Given the description of an element on the screen output the (x, y) to click on. 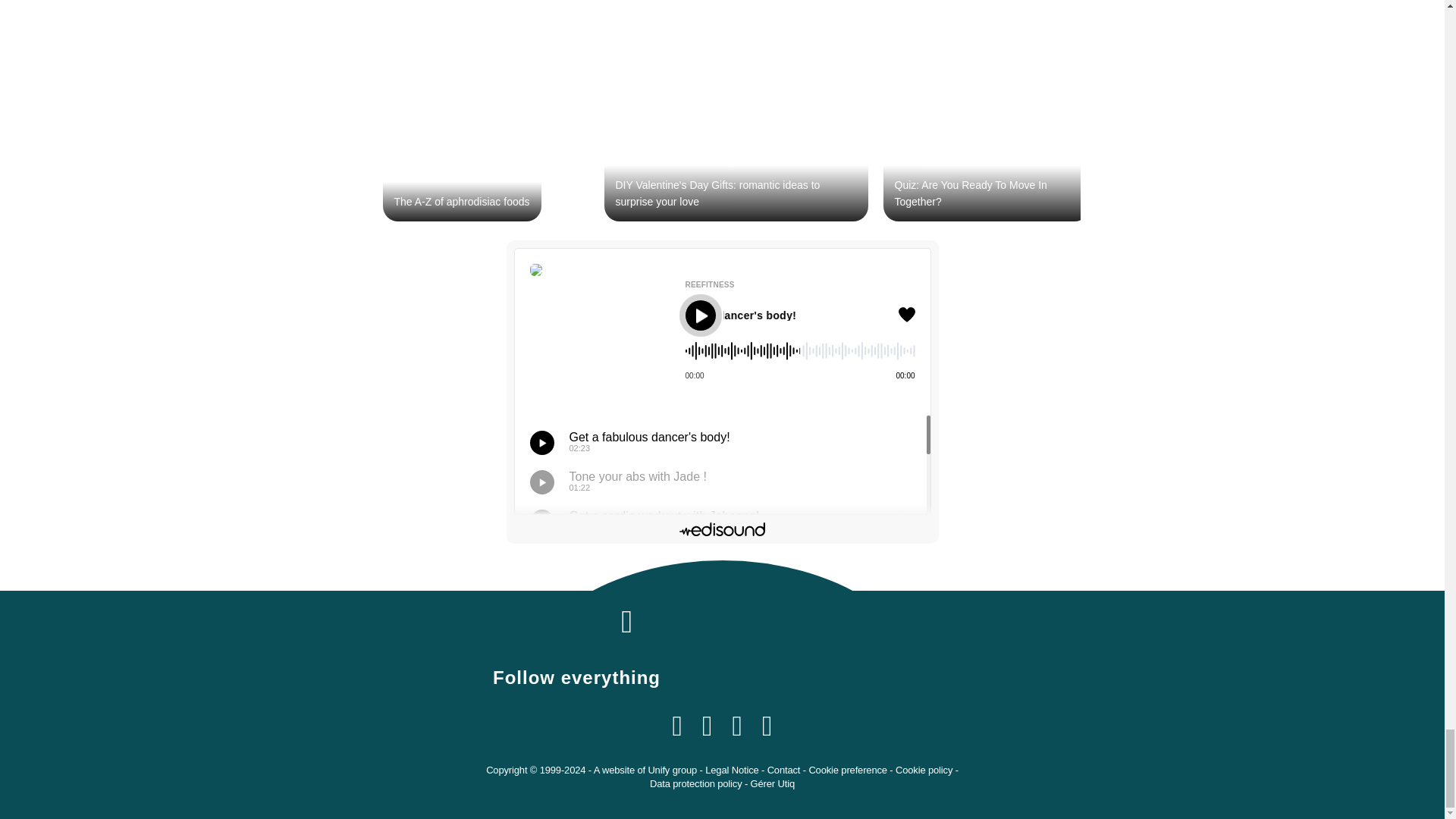
Get a fabulous dancer's body! (809, 315)
50 (800, 355)
Get a fabulous dancer's body! (788, 315)
